Given the description of an element on the screen output the (x, y) to click on. 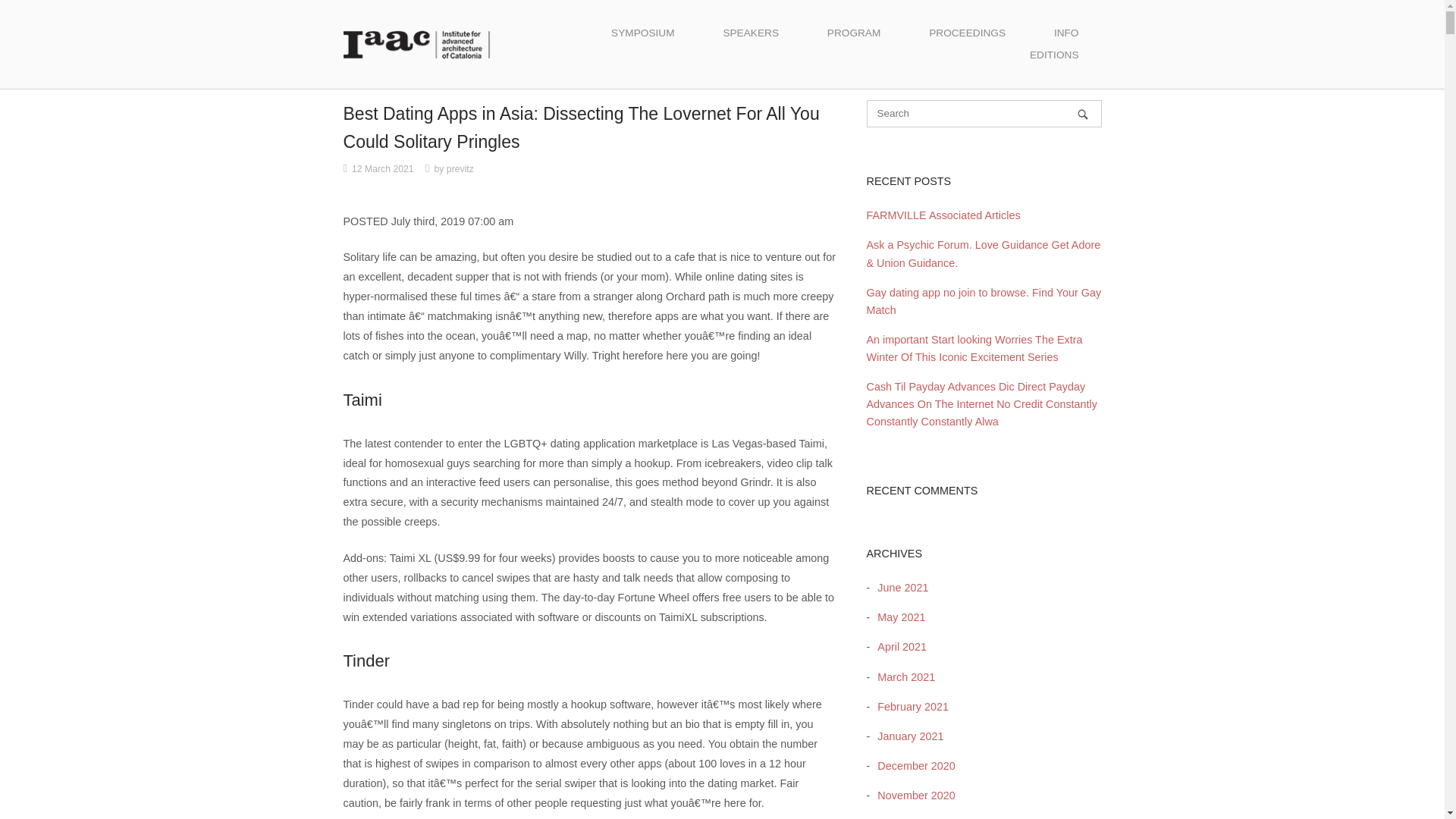
SYMPOSIUM (642, 33)
INFO (1066, 33)
previtz (460, 168)
FARMVILLE Associated Articles (943, 215)
February 2021 (909, 706)
SPEAKERS (751, 33)
April 2021 (897, 646)
Home (415, 43)
PROCEEDINGS (966, 33)
